Given the description of an element on the screen output the (x, y) to click on. 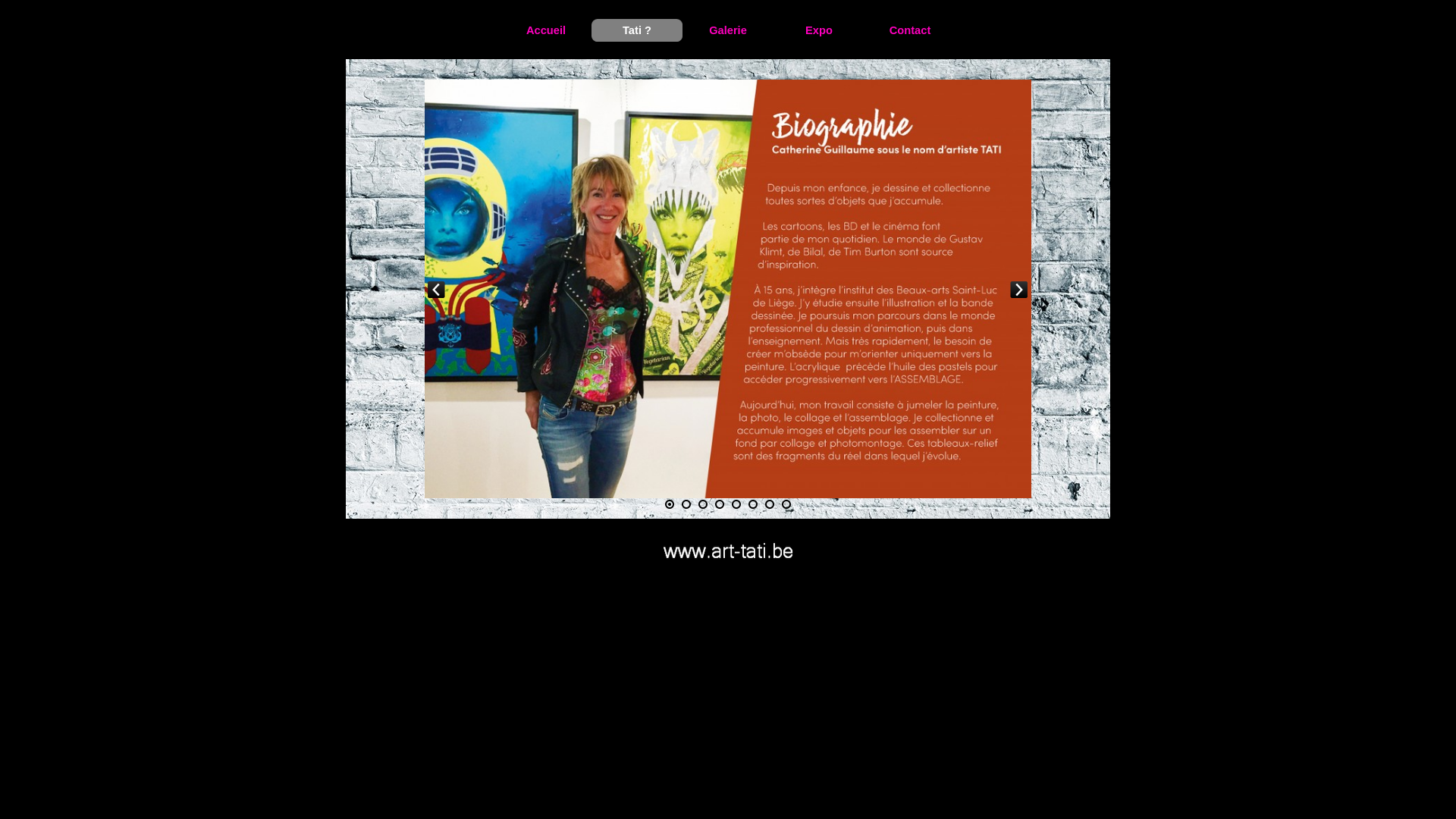
Tati ? Element type: text (636, 29)
Contact Element type: text (909, 29)
Expo Element type: text (818, 29)
Galerie Element type: text (727, 29)
Accueil Element type: text (545, 29)
